Given the description of an element on the screen output the (x, y) to click on. 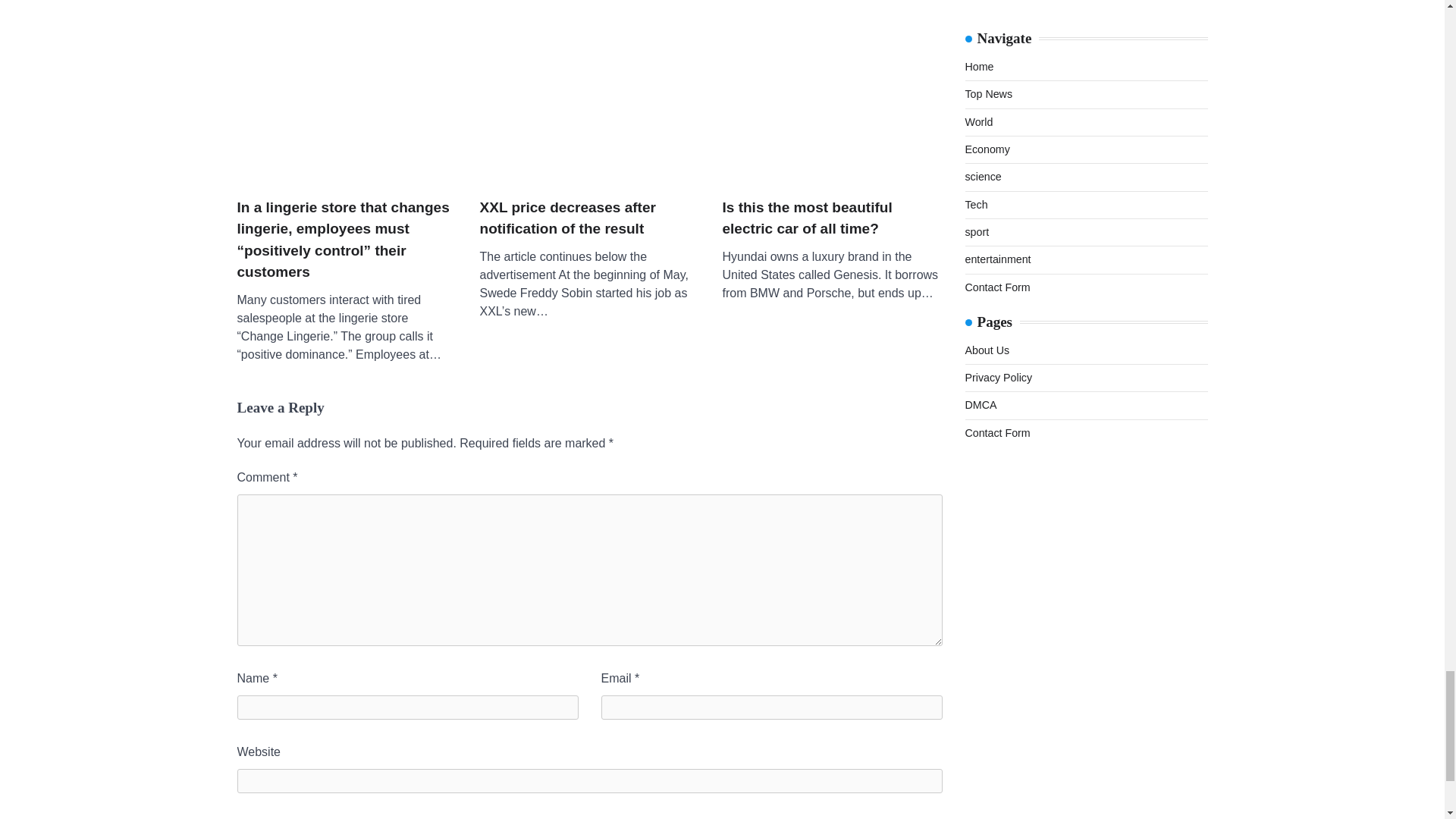
Is this the most beautiful electric car of all time? (832, 104)
XXL price decreases after notification of the result (588, 104)
Is this the most beautiful electric car of all time? (832, 218)
XXL price decreases after notification of the result (588, 218)
